Given the description of an element on the screen output the (x, y) to click on. 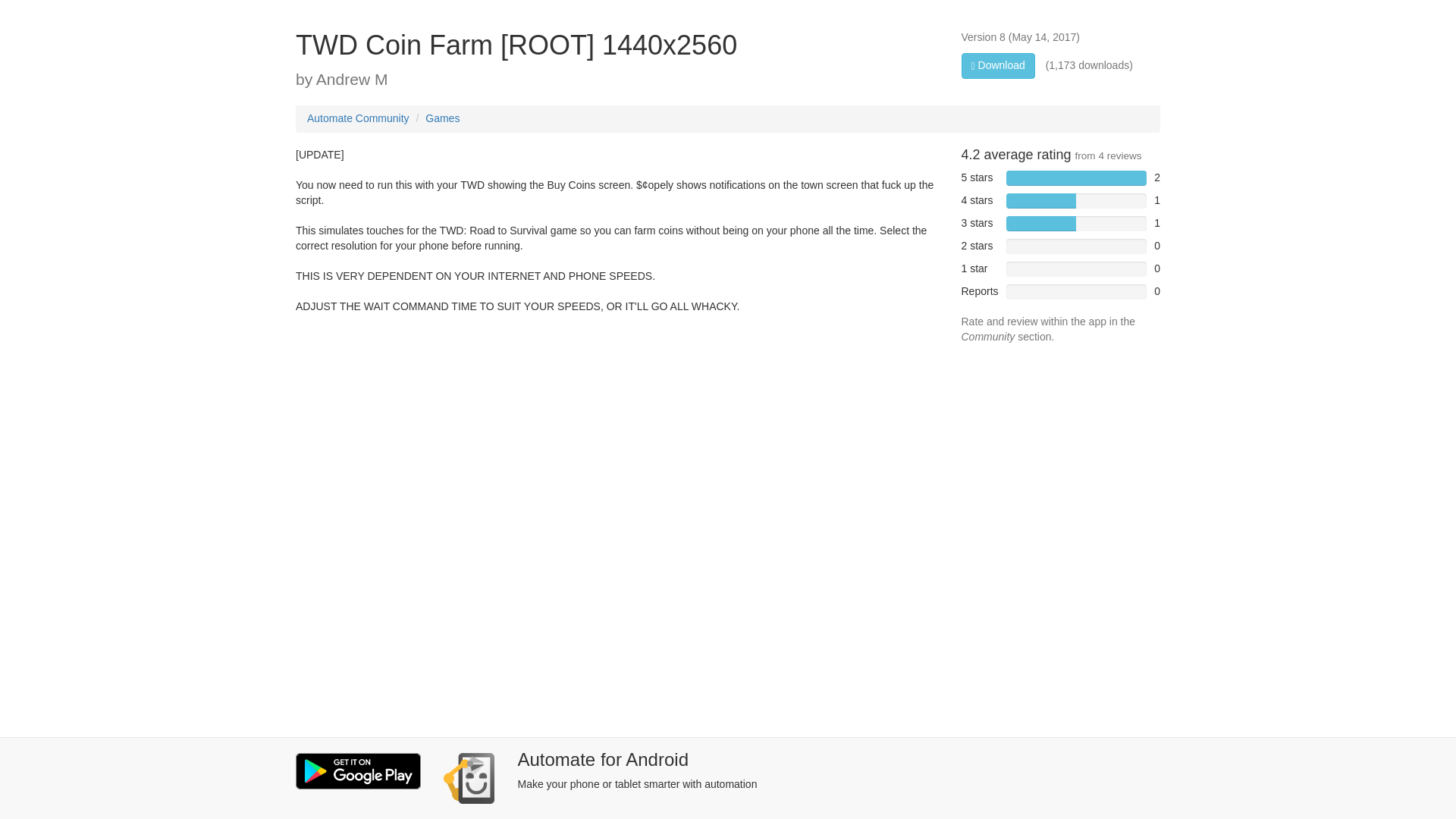
Automate Community (358, 118)
Games (442, 118)
Download (997, 65)
